Given the description of an element on the screen output the (x, y) to click on. 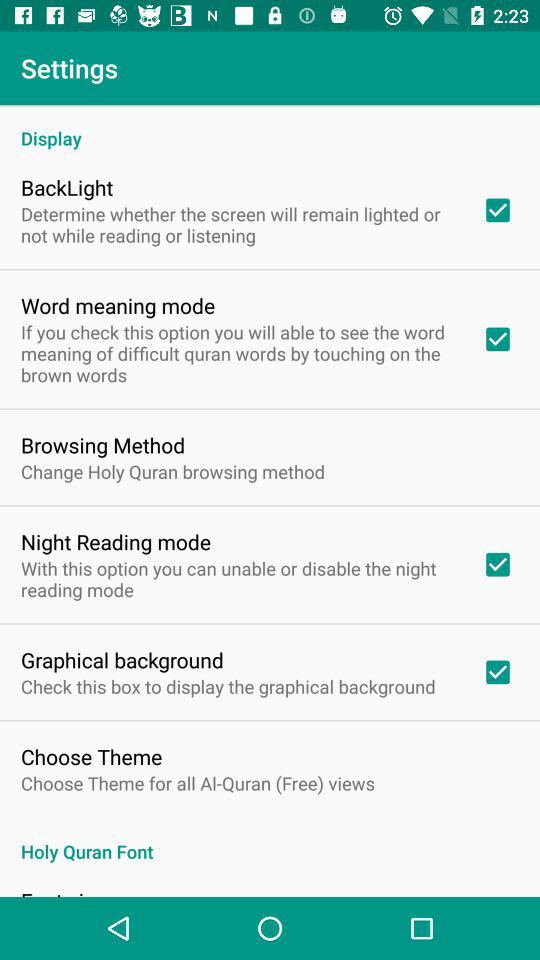
jump until the if you check icon (238, 353)
